Given the description of an element on the screen output the (x, y) to click on. 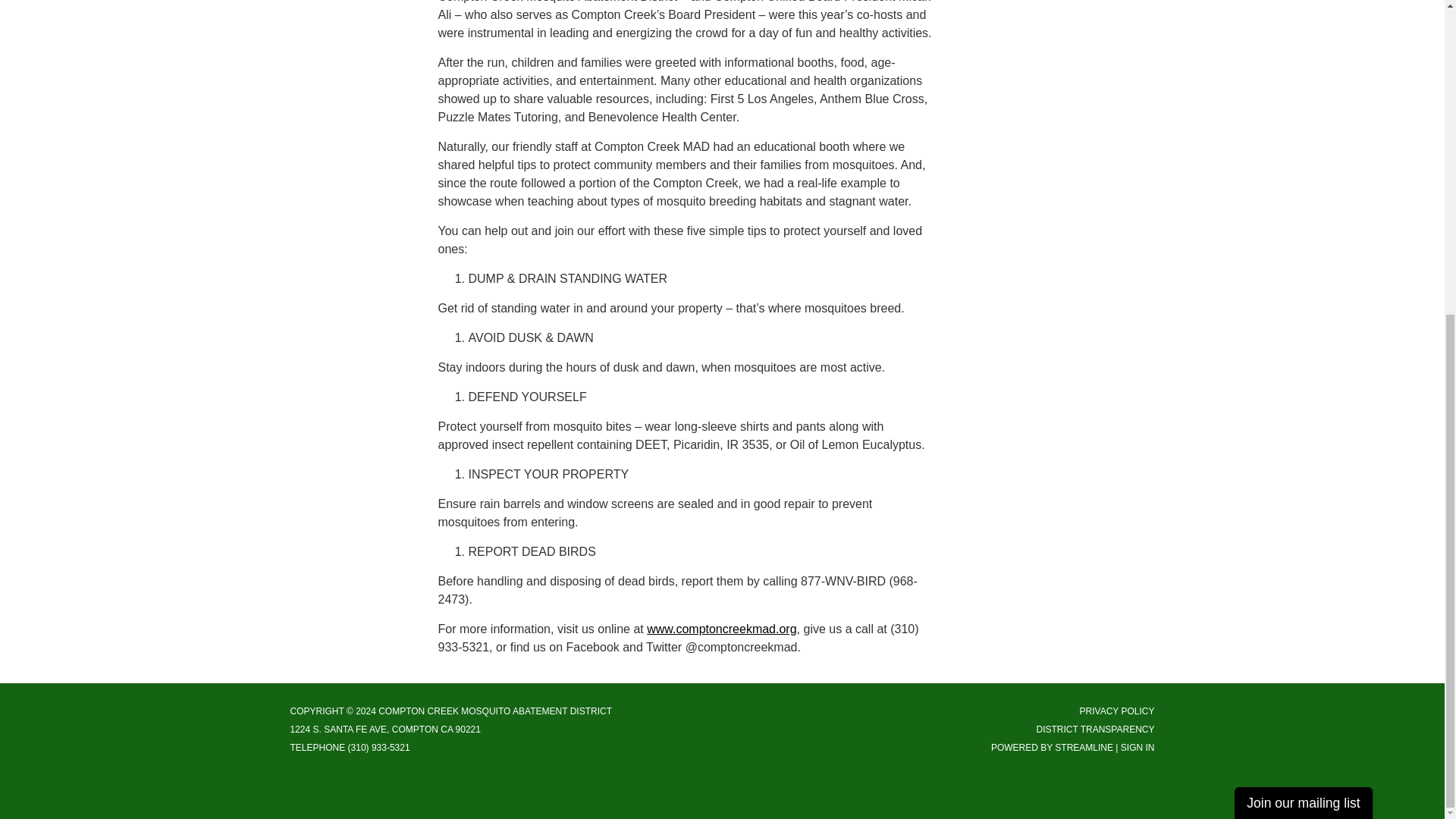
www.comptoncreekmad.org (721, 627)
STREAMLINE (1083, 747)
Join our mailing list (1303, 299)
Special District Transparency Report (1094, 728)
Streamline: Technology for Special Districts (1083, 747)
DISTRICT TRANSPARENCY (1094, 728)
SIGN IN (1137, 747)
PRIVACY POLICY (1117, 710)
